Given the description of an element on the screen output the (x, y) to click on. 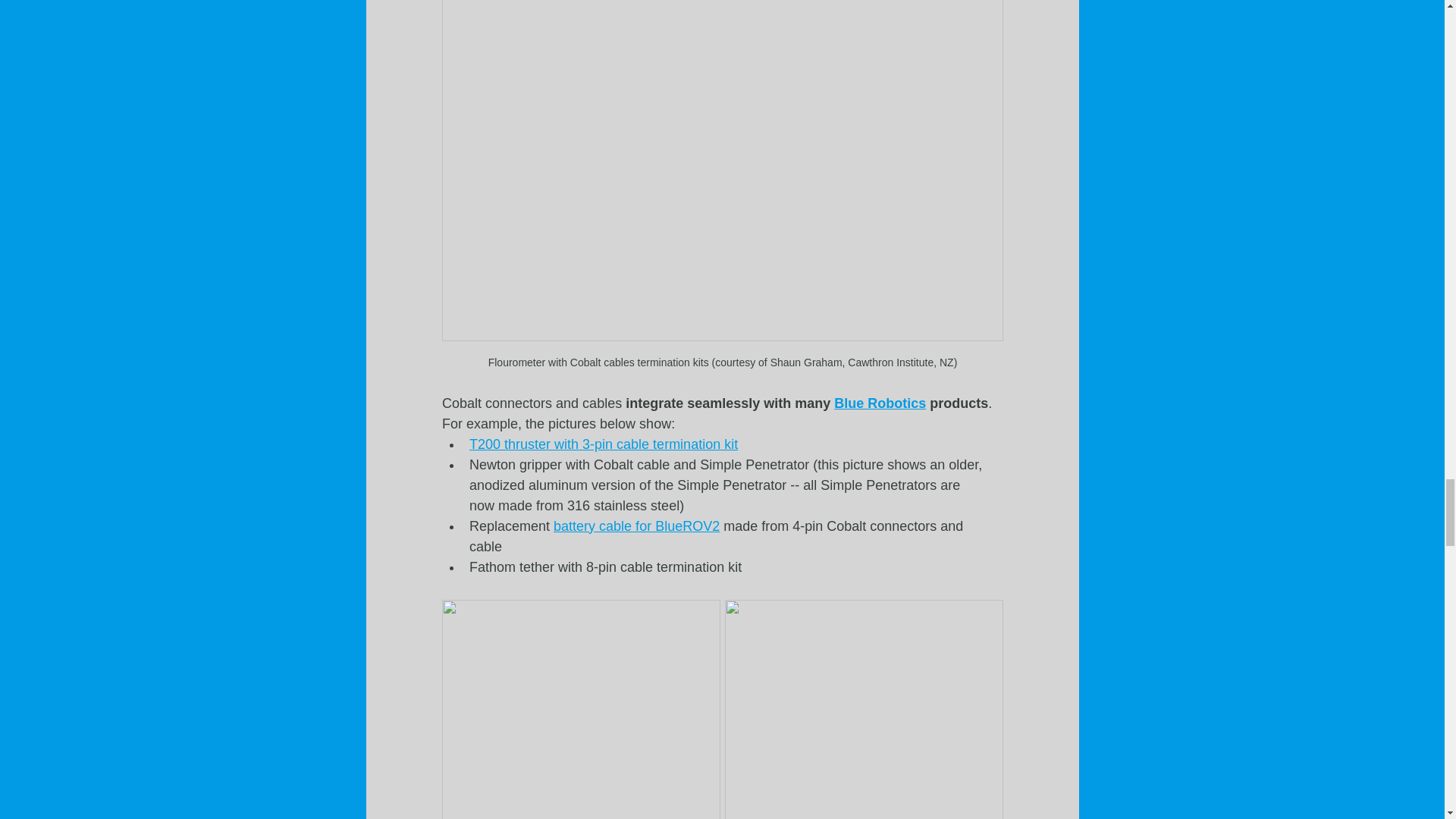
Blue Robotics (880, 403)
T200 thruster with 3-pin cable termination kit (602, 444)
battery cable for BlueROV2 (636, 525)
